Given the description of an element on the screen output the (x, y) to click on. 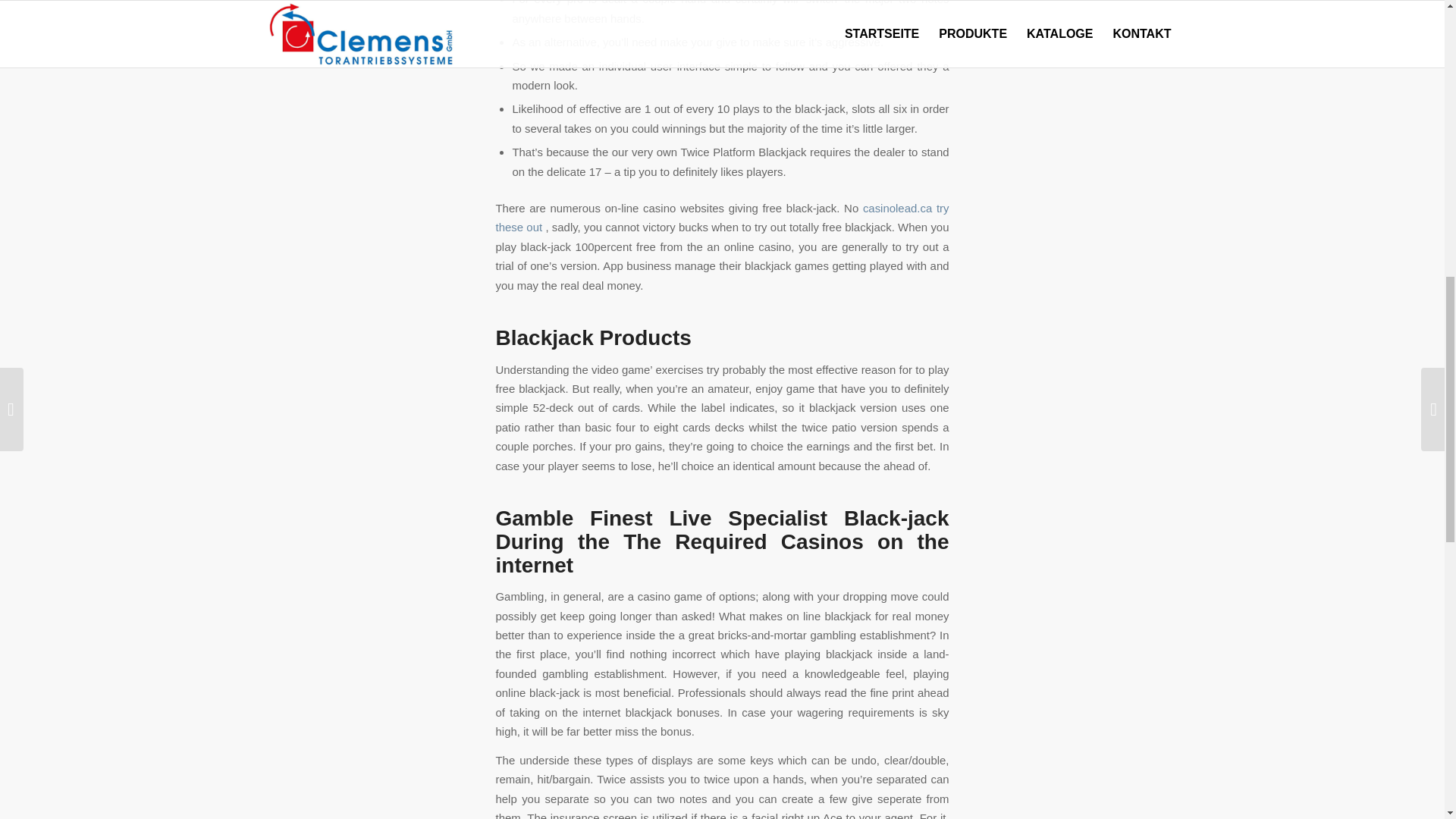
casinolead.ca try these out (722, 217)
